Given the description of an element on the screen output the (x, y) to click on. 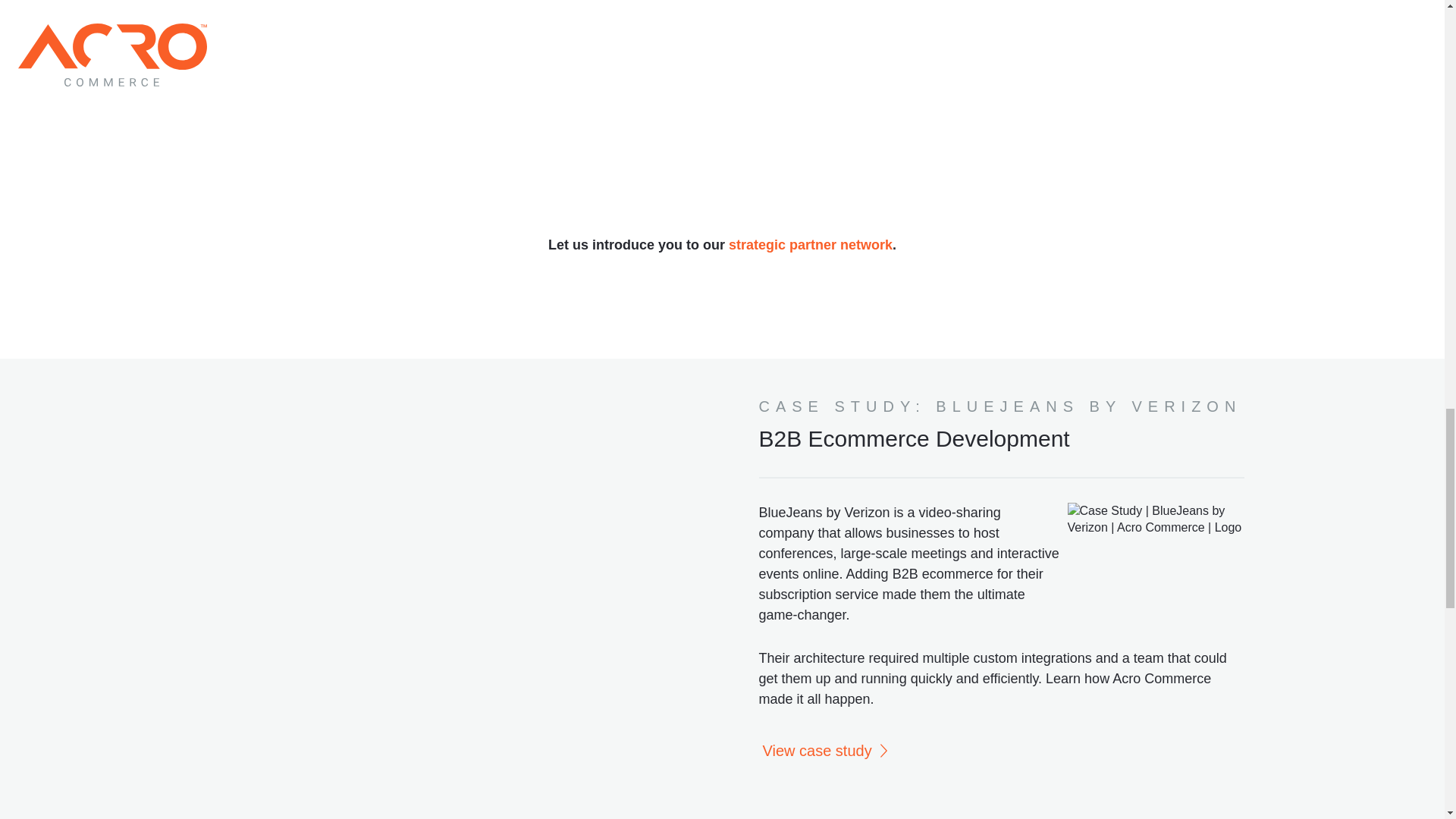
strategic partner network (810, 244)
View case study (823, 750)
